Given the description of an element on the screen output the (x, y) to click on. 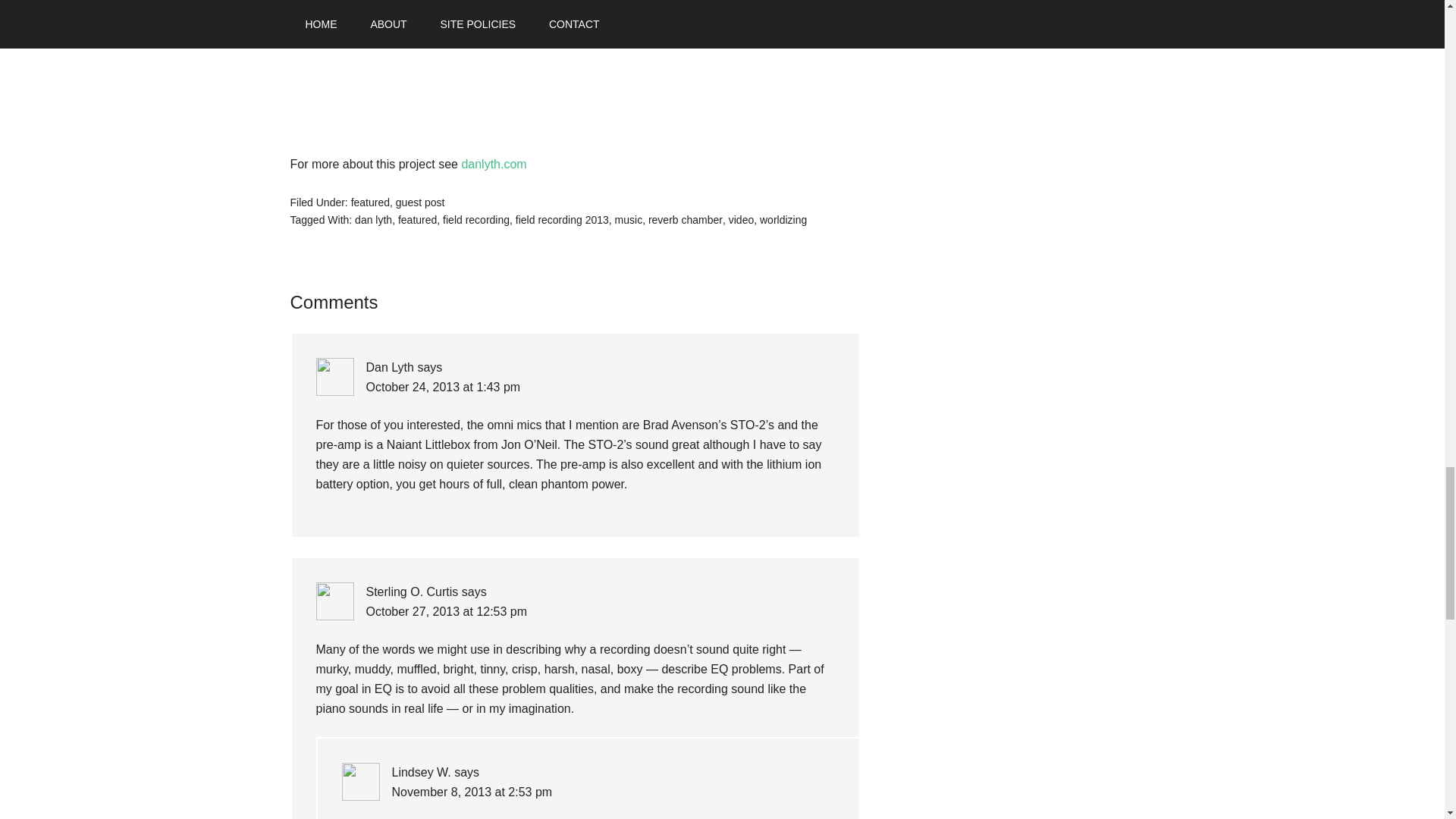
featured (416, 219)
reverb chamber (684, 219)
field recording 2013 (561, 219)
music (628, 219)
field recording (475, 219)
danlyth.com (493, 164)
guest post (420, 202)
dan lyth (373, 219)
featured (370, 202)
